Given the description of an element on the screen output the (x, y) to click on. 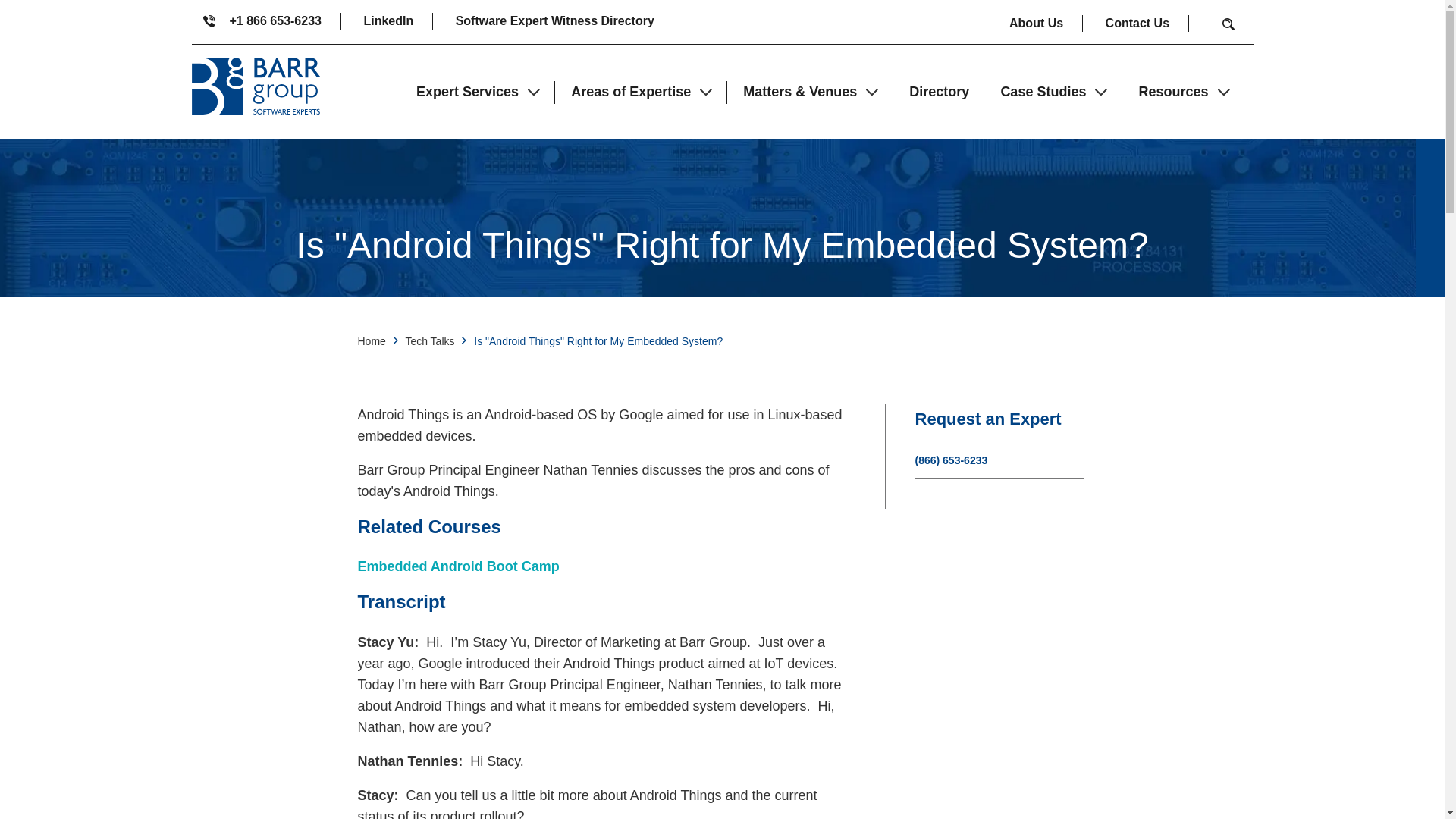
Areas of Expertise (641, 91)
Contact Us (1147, 23)
About Us (1046, 23)
Software Expert Witness Directory (554, 21)
LinkedIn (397, 21)
Expert Services (477, 91)
